Given the description of an element on the screen output the (x, y) to click on. 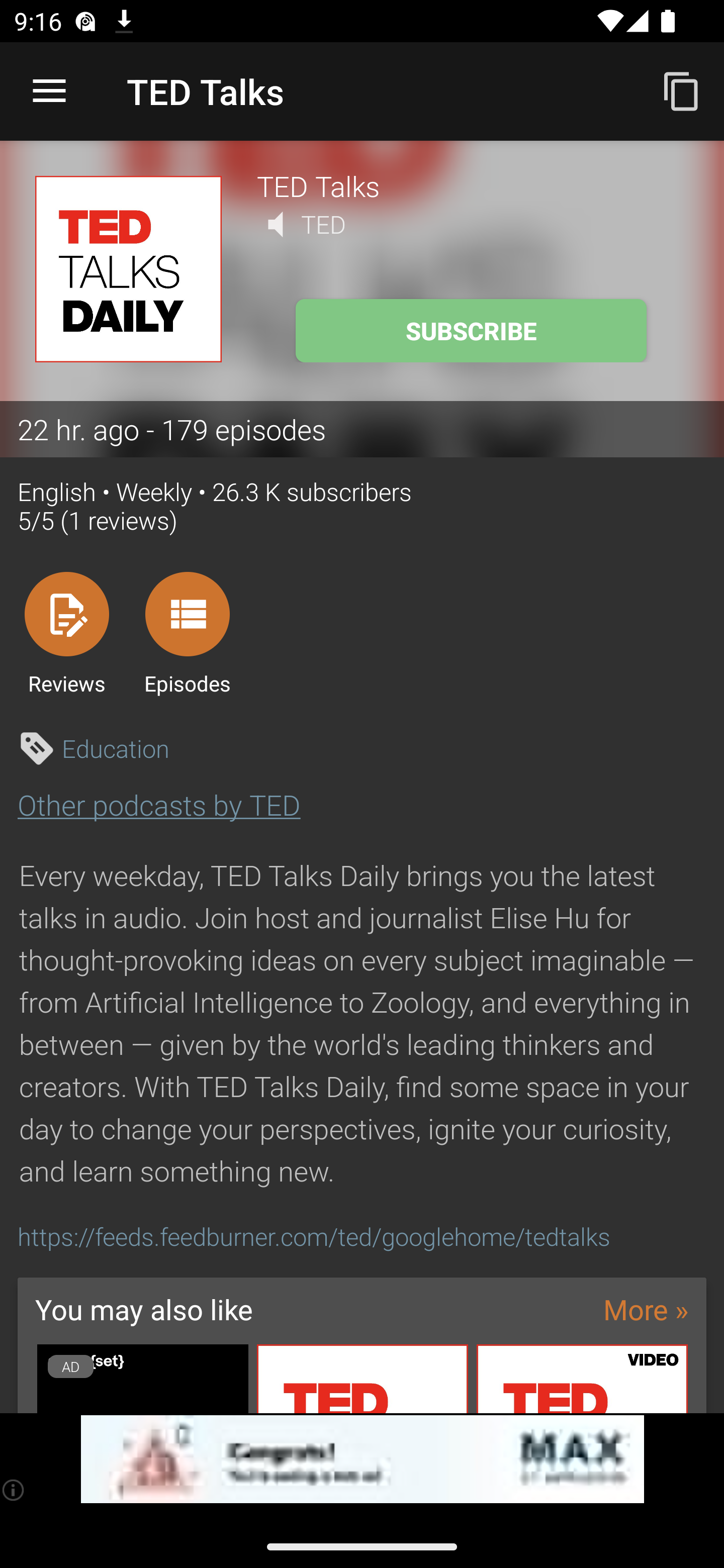
Open navigation sidebar (49, 91)
Copy feed url to clipboard (681, 90)
TED Talks (472, 185)
SUBSCRIBE (470, 330)
Reviews (66, 633)
Episodes (187, 633)
Other podcasts by TED (158, 804)
More » (645, 1309)
app-monetization (362, 1459)
(i) (14, 1489)
